Given the description of an element on the screen output the (x, y) to click on. 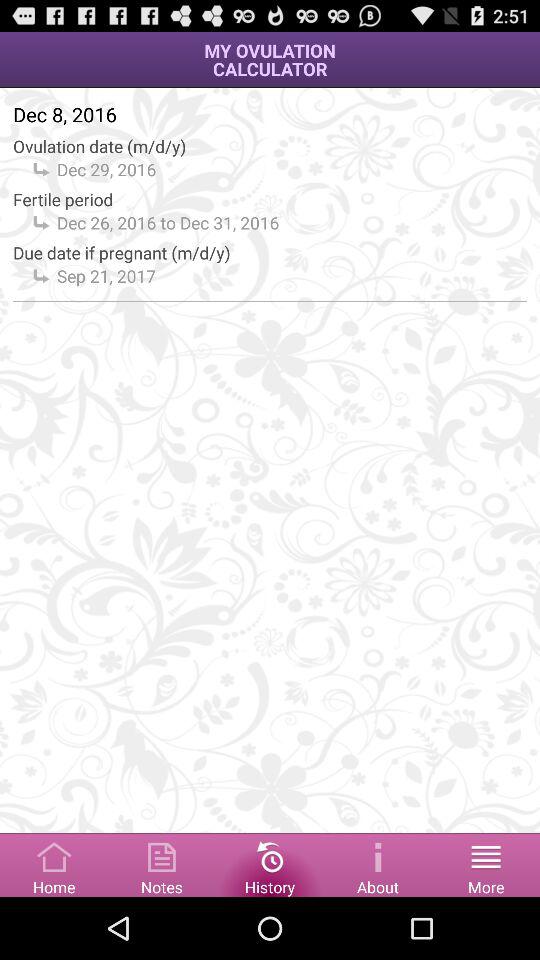
open notes (162, 864)
